Given the description of an element on the screen output the (x, y) to click on. 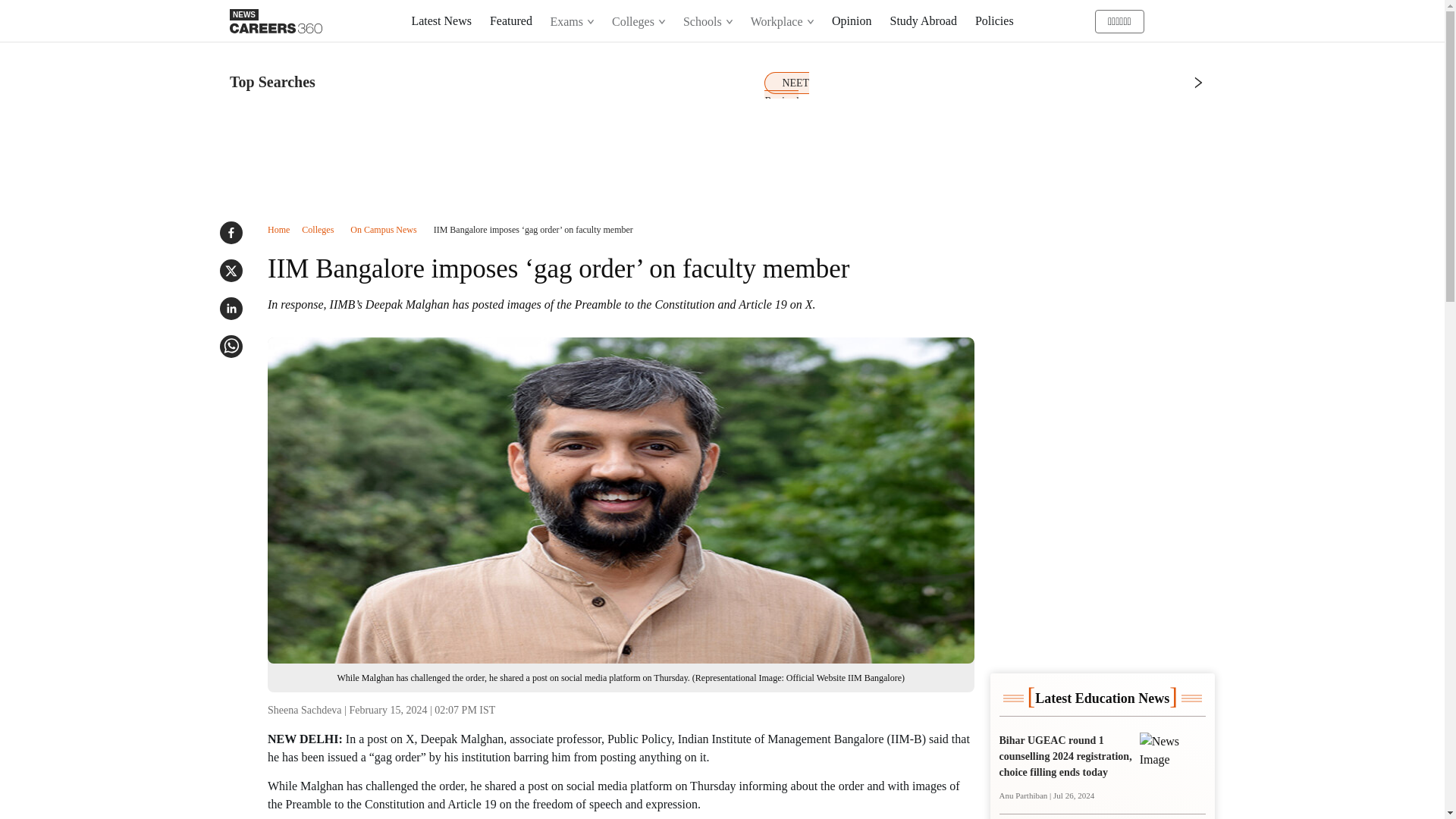
Exams (572, 21)
Opinion (850, 20)
Schools (707, 20)
Workplace (781, 20)
Exams (572, 20)
Policies (994, 20)
Colleges (638, 20)
Colleges (638, 21)
Latest News (440, 20)
Study Abroad (922, 20)
Featured (510, 20)
Workplace (782, 21)
Schools (707, 21)
